Given the description of an element on the screen output the (x, y) to click on. 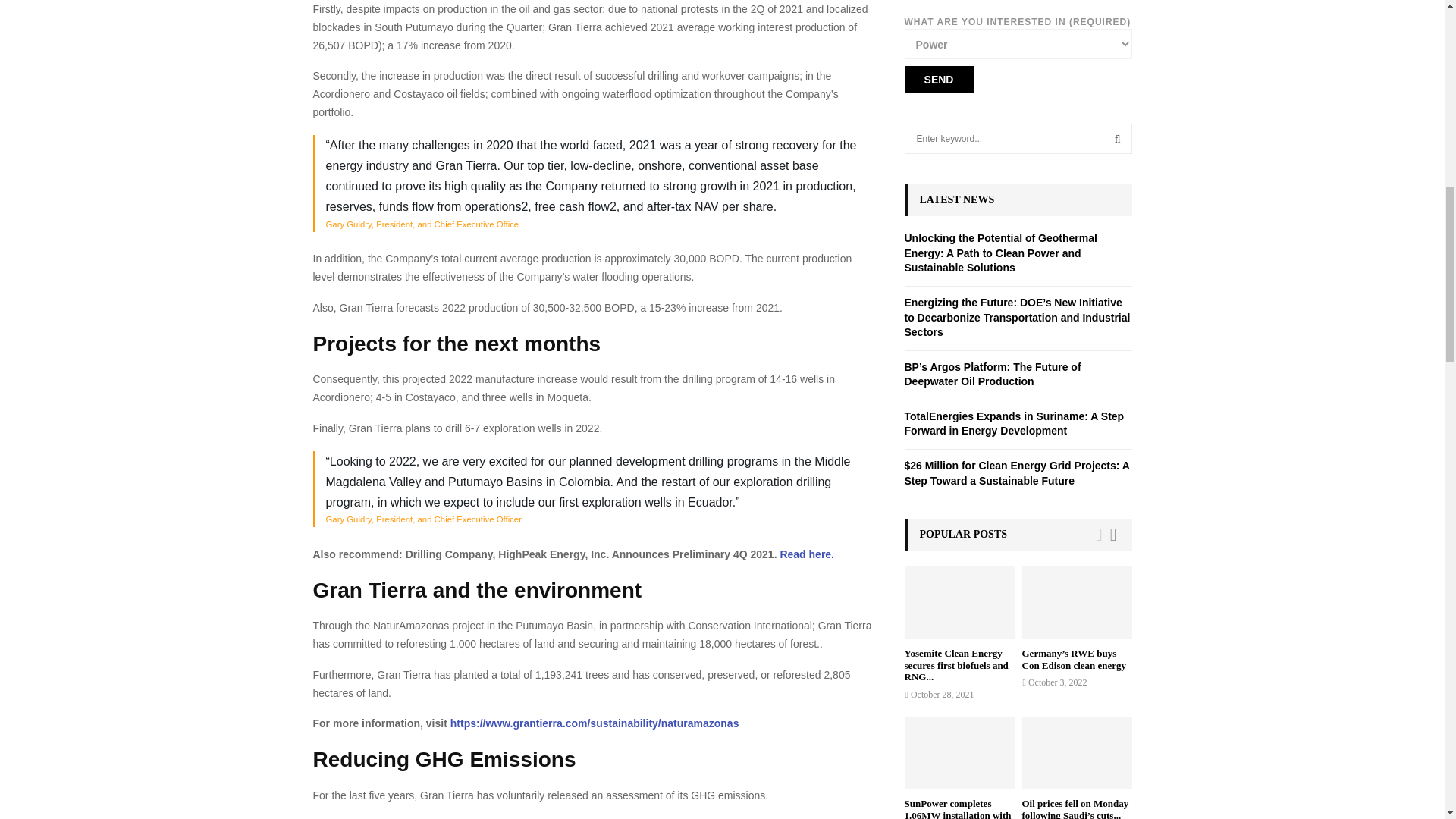
Send (938, 79)
